Given the description of an element on the screen output the (x, y) to click on. 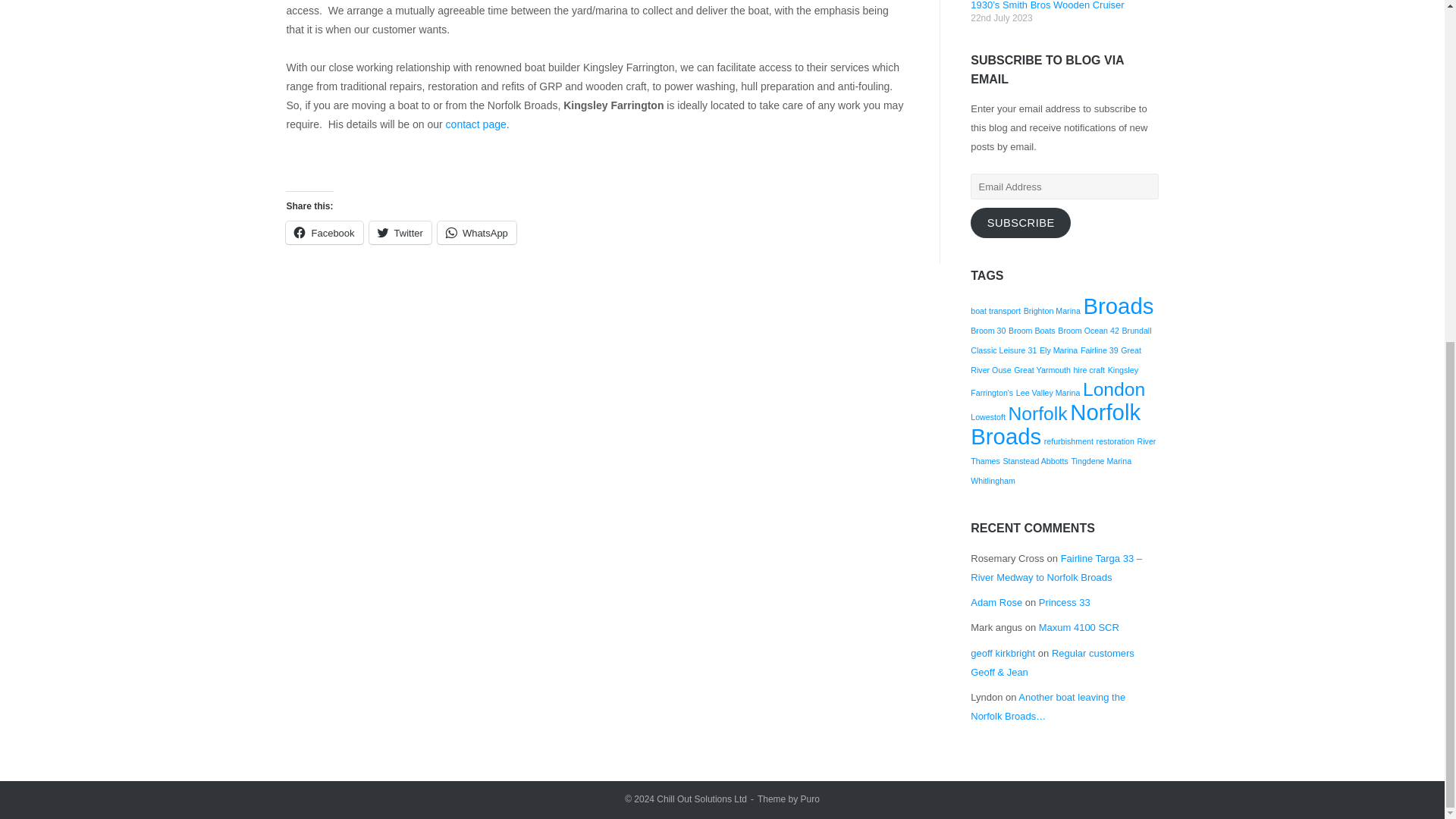
hire craft (1089, 369)
Twitter (399, 232)
Click to share on WhatsApp (477, 232)
Click to share on Twitter (399, 232)
Lee Valley Marina (1048, 392)
Facebook (323, 232)
Broom 30 (988, 329)
Click to share on Facebook (323, 232)
Ely Marina (1058, 349)
Classic Leisure 31 (1003, 349)
